Given the description of an element on the screen output the (x, y) to click on. 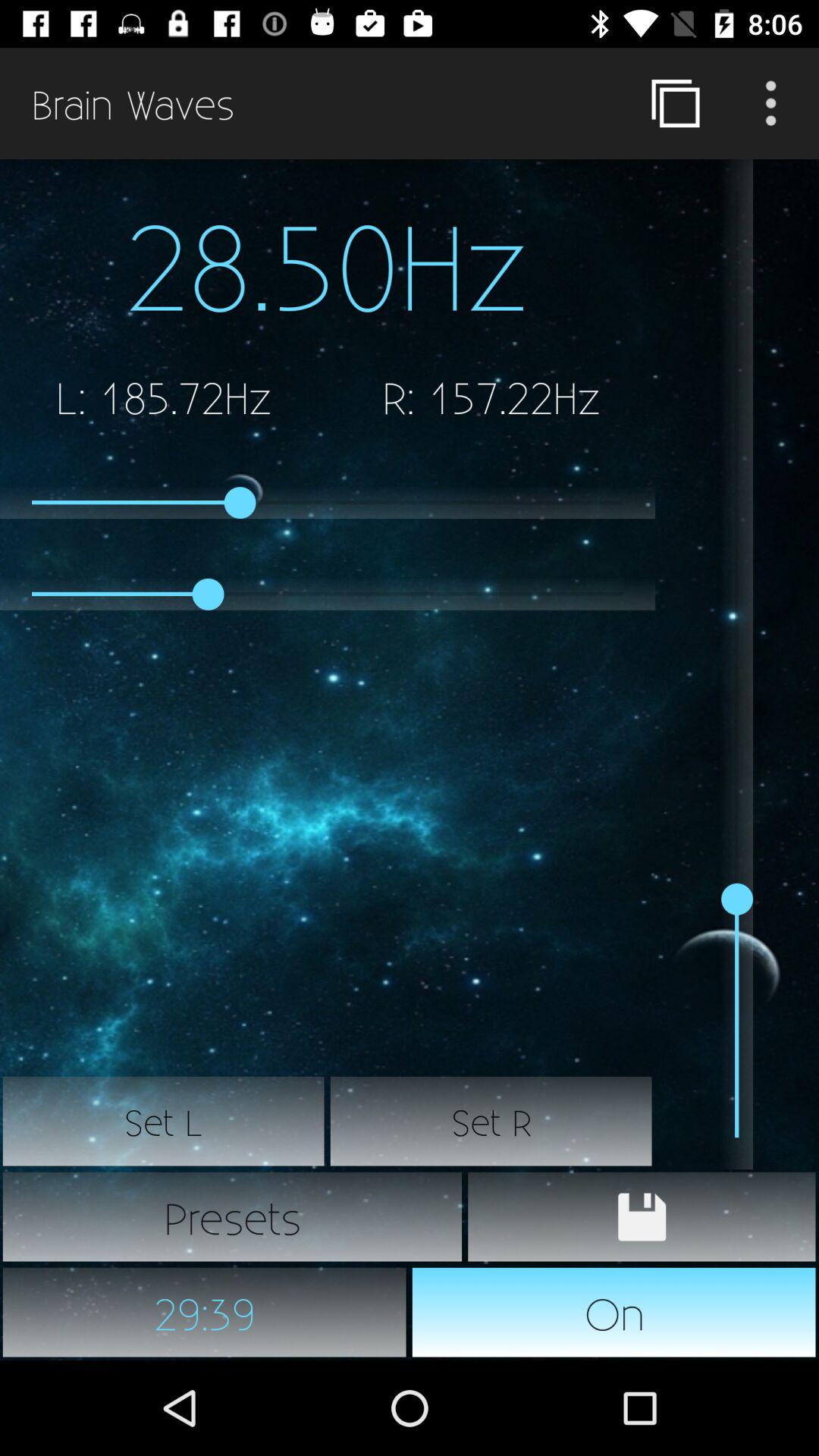
select the item below presets item (204, 1312)
